Given the description of an element on the screen output the (x, y) to click on. 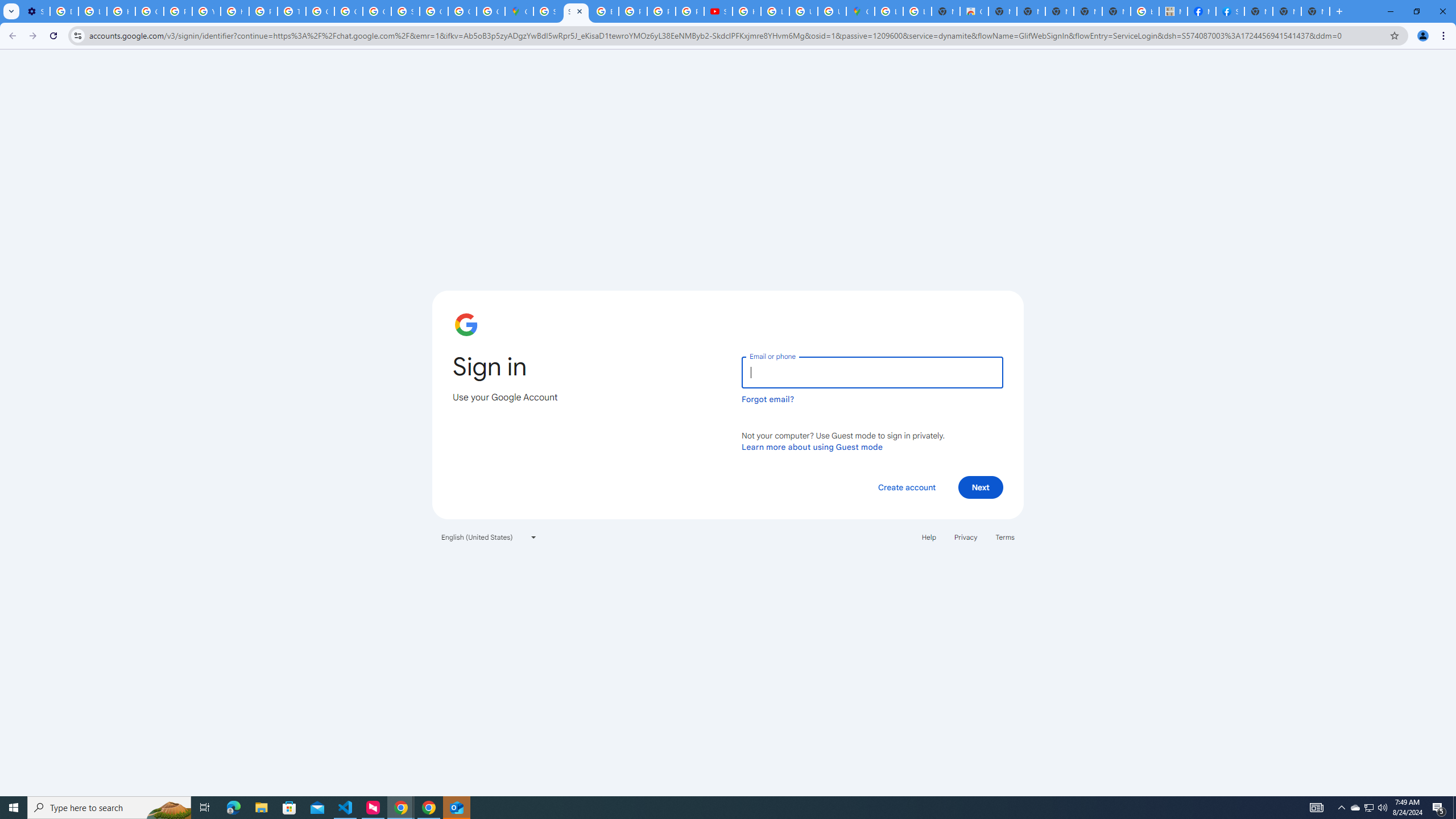
Chrome Web Store (973, 11)
Delete photos & videos - Computer - Google Photos Help (63, 11)
How Chrome protects your passwords - Google Chrome Help (746, 11)
Learn how to find your photos - Google Photos Help (92, 11)
Google Maps (518, 11)
Privacy Help Center - Policies Help (178, 11)
YouTube (206, 11)
Google Account Help (148, 11)
Forgot email? (767, 398)
